Given the description of an element on the screen output the (x, y) to click on. 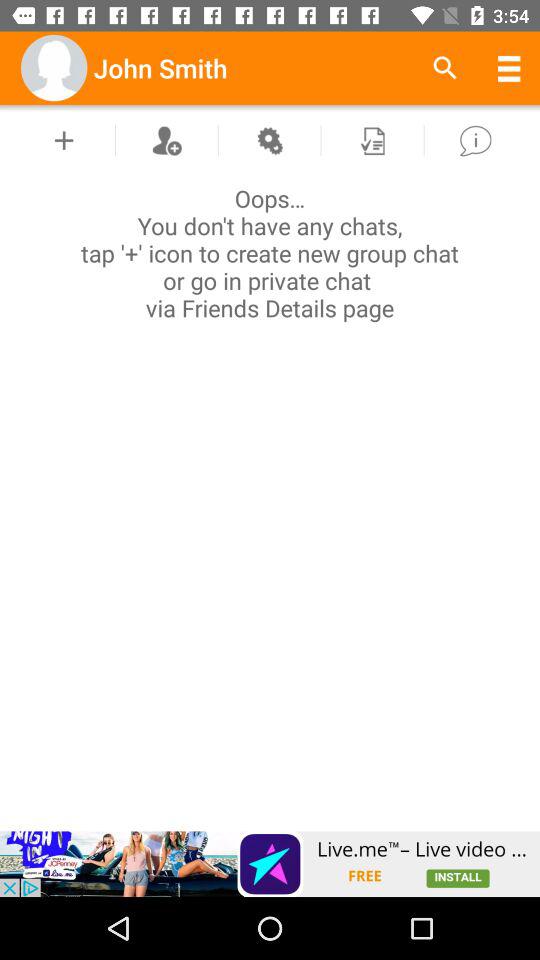
create new chat (63, 140)
